Given the description of an element on the screen output the (x, y) to click on. 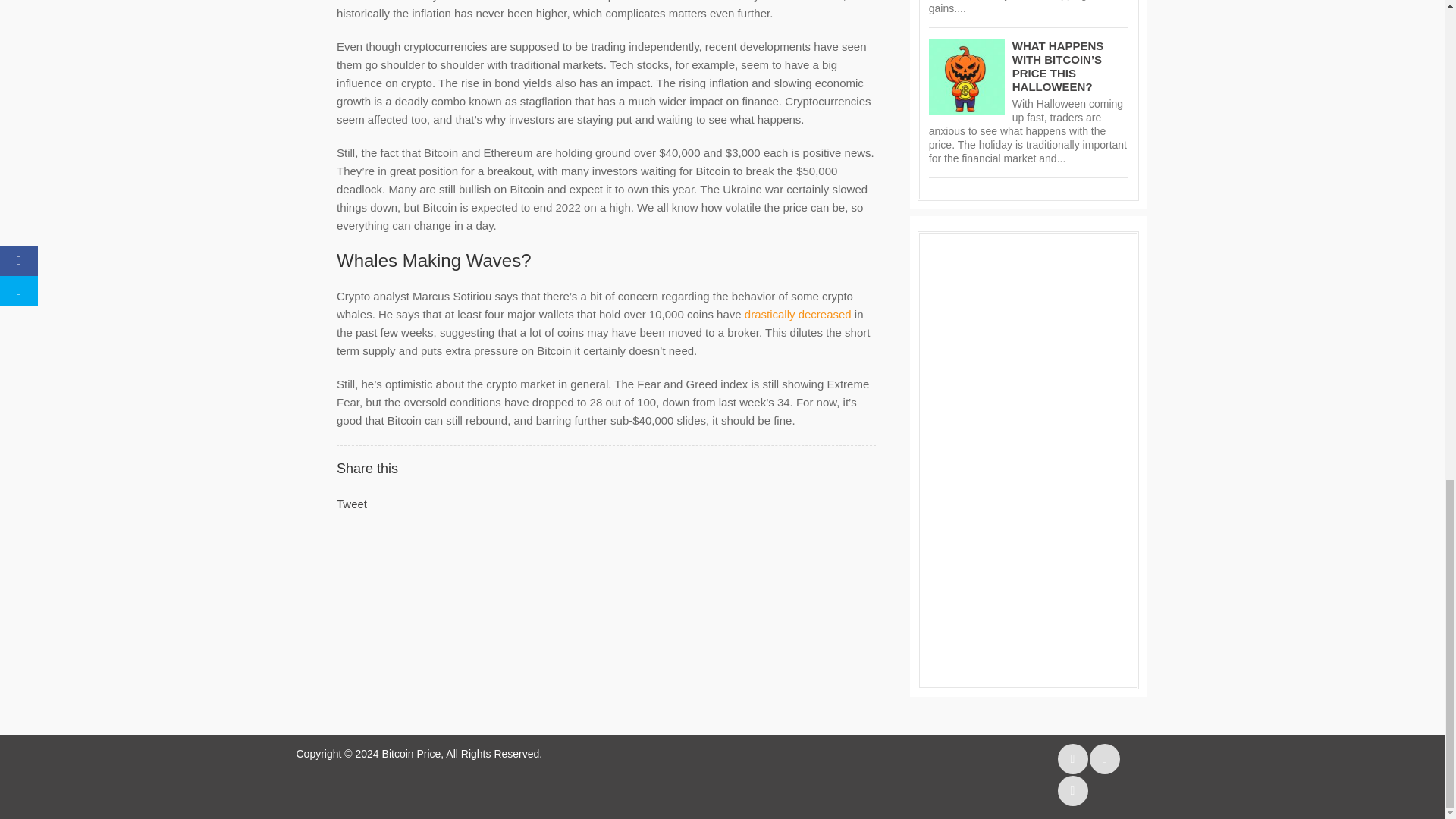
Tweet (351, 503)
Bitcoin Price (411, 753)
drastically decreased (797, 314)
Advertisement (1023, 565)
